Given the description of an element on the screen output the (x, y) to click on. 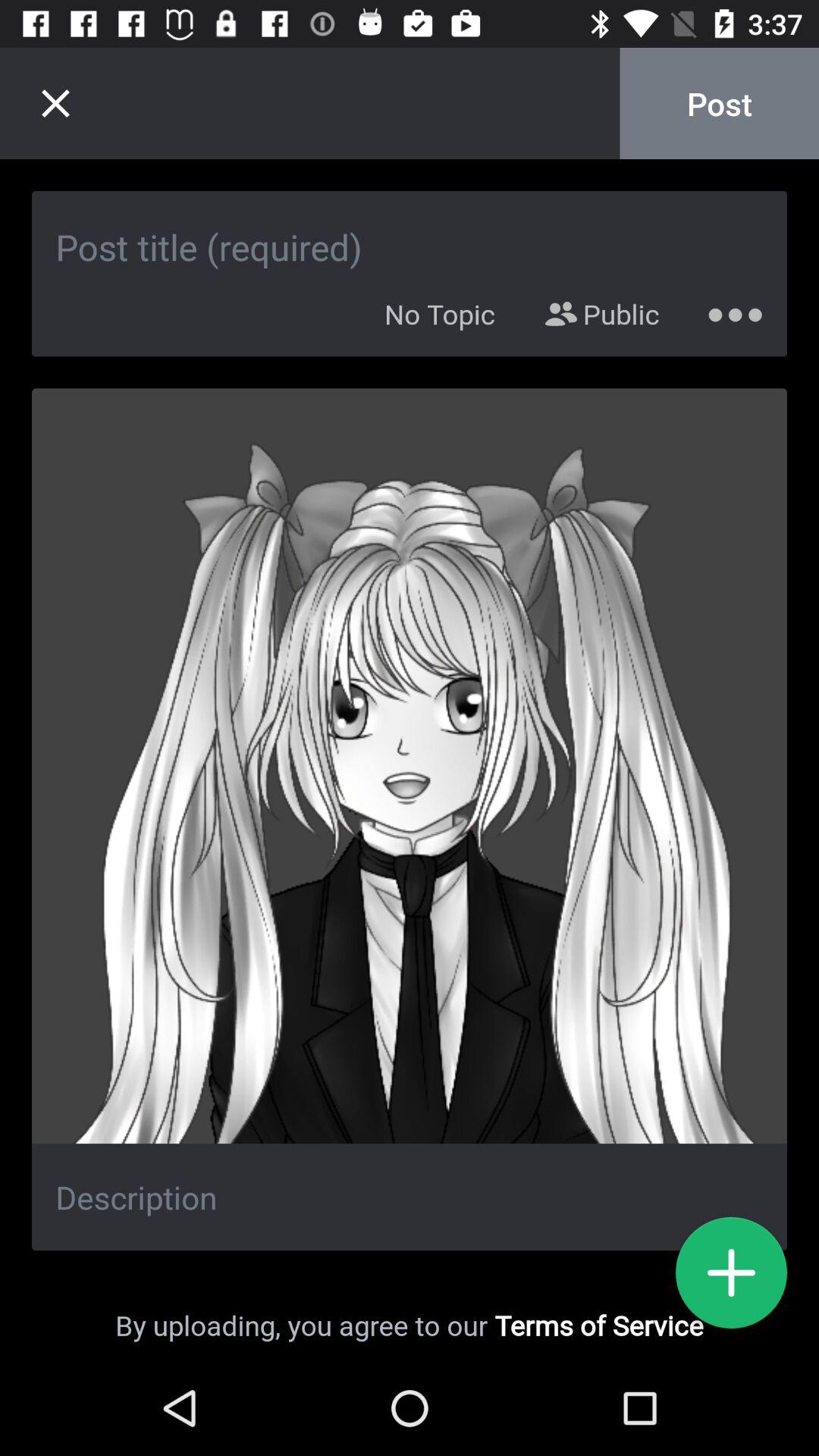
close (55, 103)
